Given the description of an element on the screen output the (x, y) to click on. 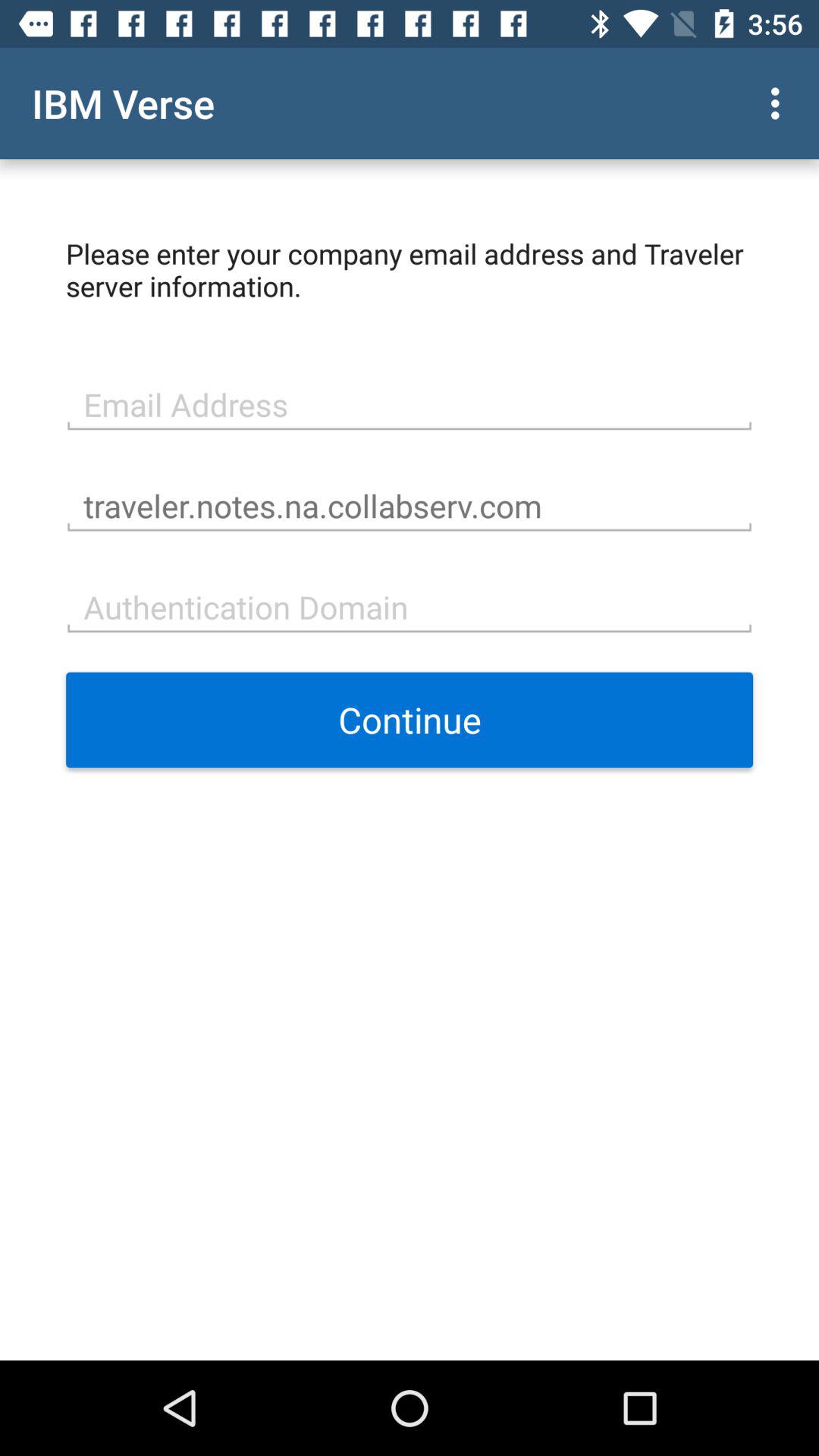
scroll until traveler notes na item (409, 504)
